Given the description of an element on the screen output the (x, y) to click on. 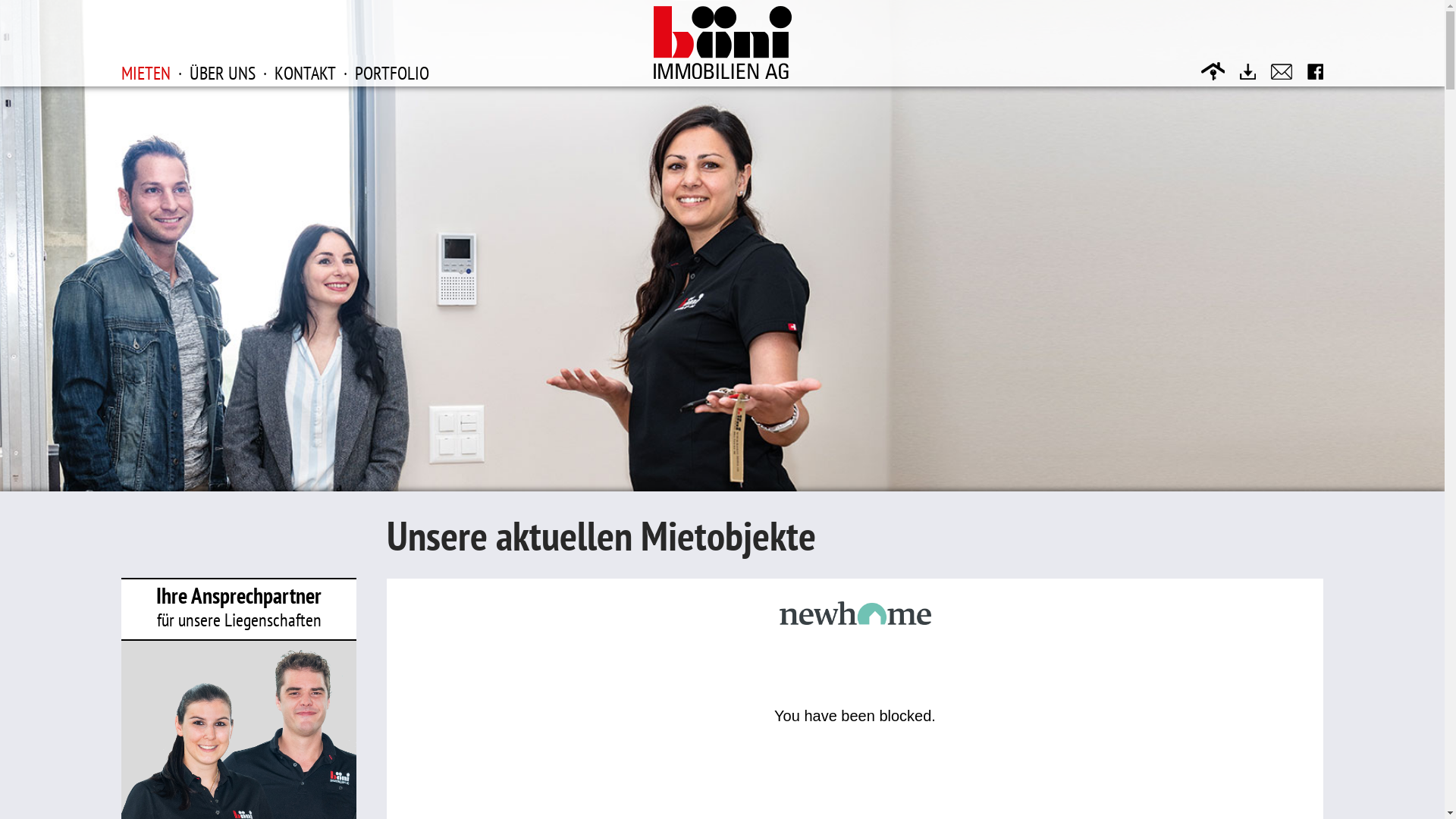
PORTFOLIO Element type: text (391, 72)
KONTAKT Element type: text (304, 72)
MIETEN Element type: text (145, 71)
